Given the description of an element on the screen output the (x, y) to click on. 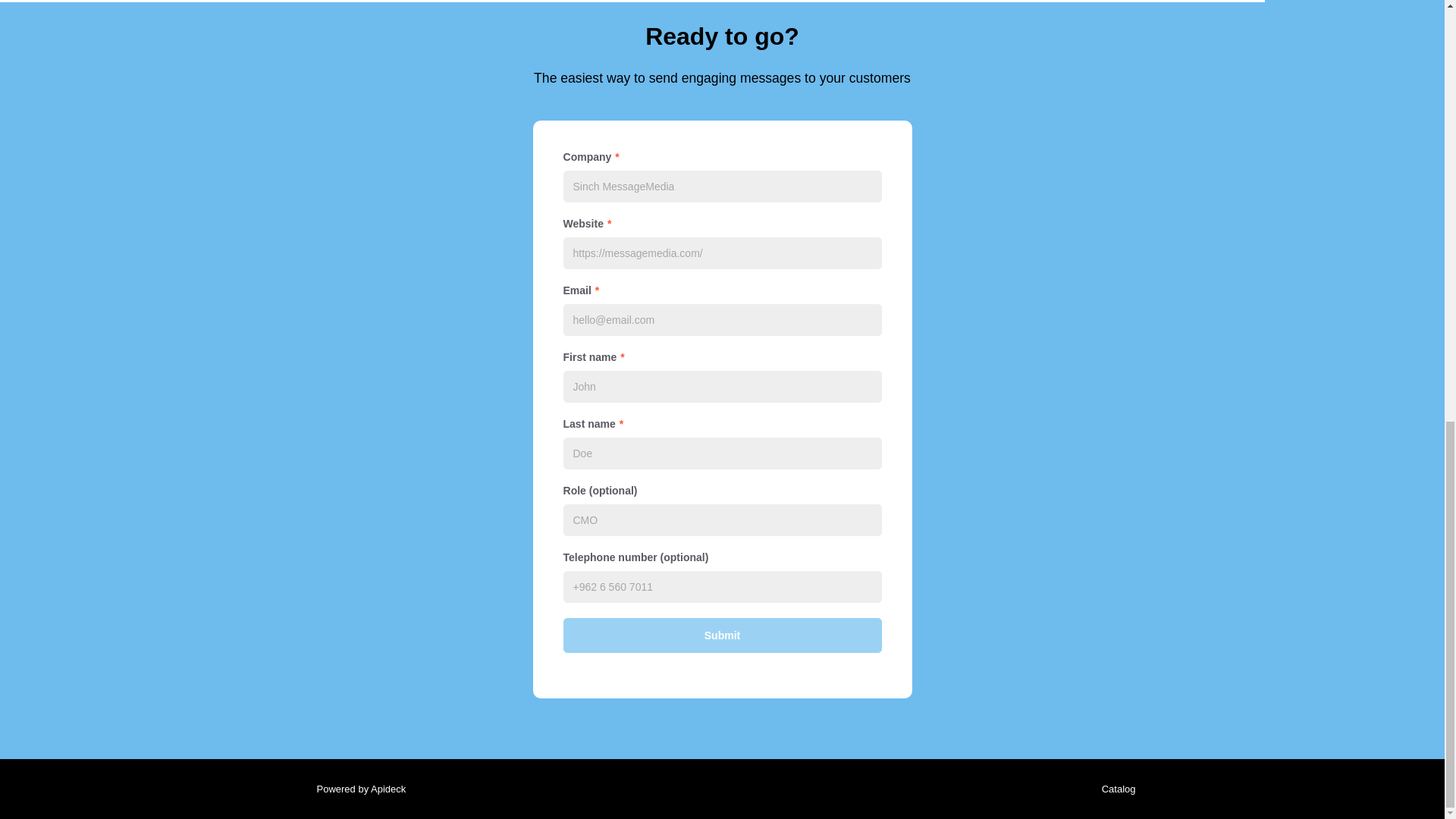
Powered by Apideck (356, 789)
Catalog (1115, 789)
Submit (721, 635)
